Given the description of an element on the screen output the (x, y) to click on. 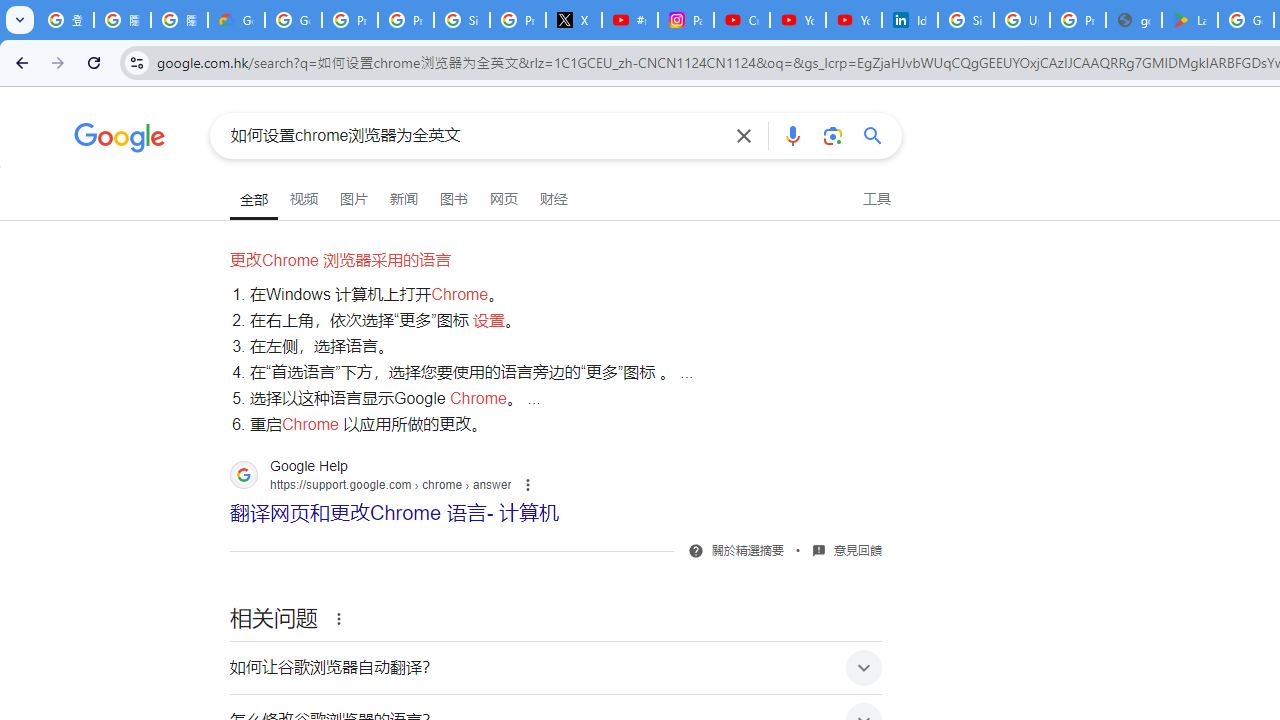
Last Shelter: Survival - Apps on Google Play (1190, 20)
